Given the description of an element on the screen output the (x, y) to click on. 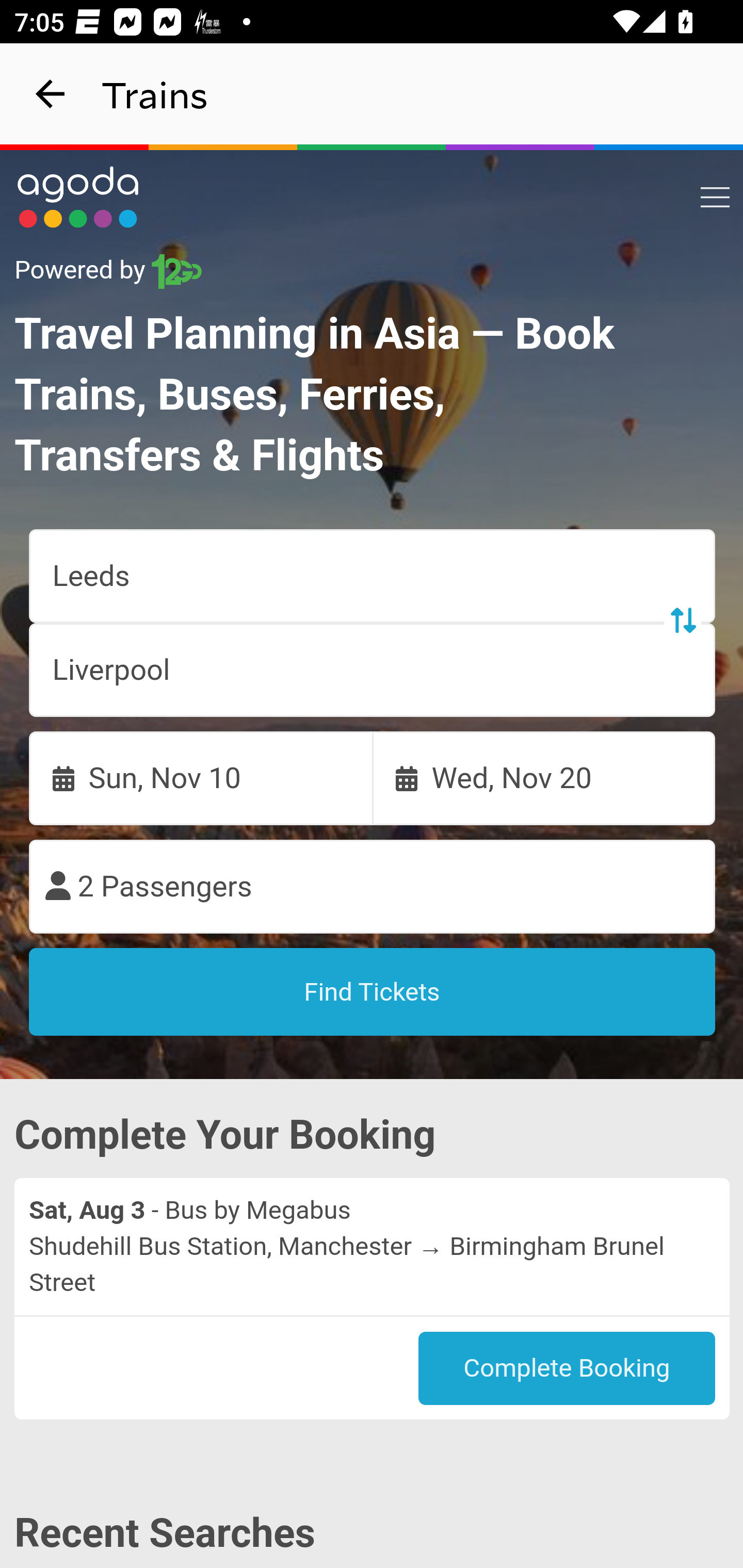
navigation_button (50, 93)
Link to main page 5418 (78, 197)
Leeds Swap trip points (372, 576)
Swap trip points (682, 619)
Liverpool (372, 670)
Sun, Nov 10 (200, 778)
Wed, Nov 20 (544, 778)
 2 Passengers (372, 887)
Find Tickets (372, 992)
Complete Booking (566, 1368)
